Given the description of an element on the screen output the (x, y) to click on. 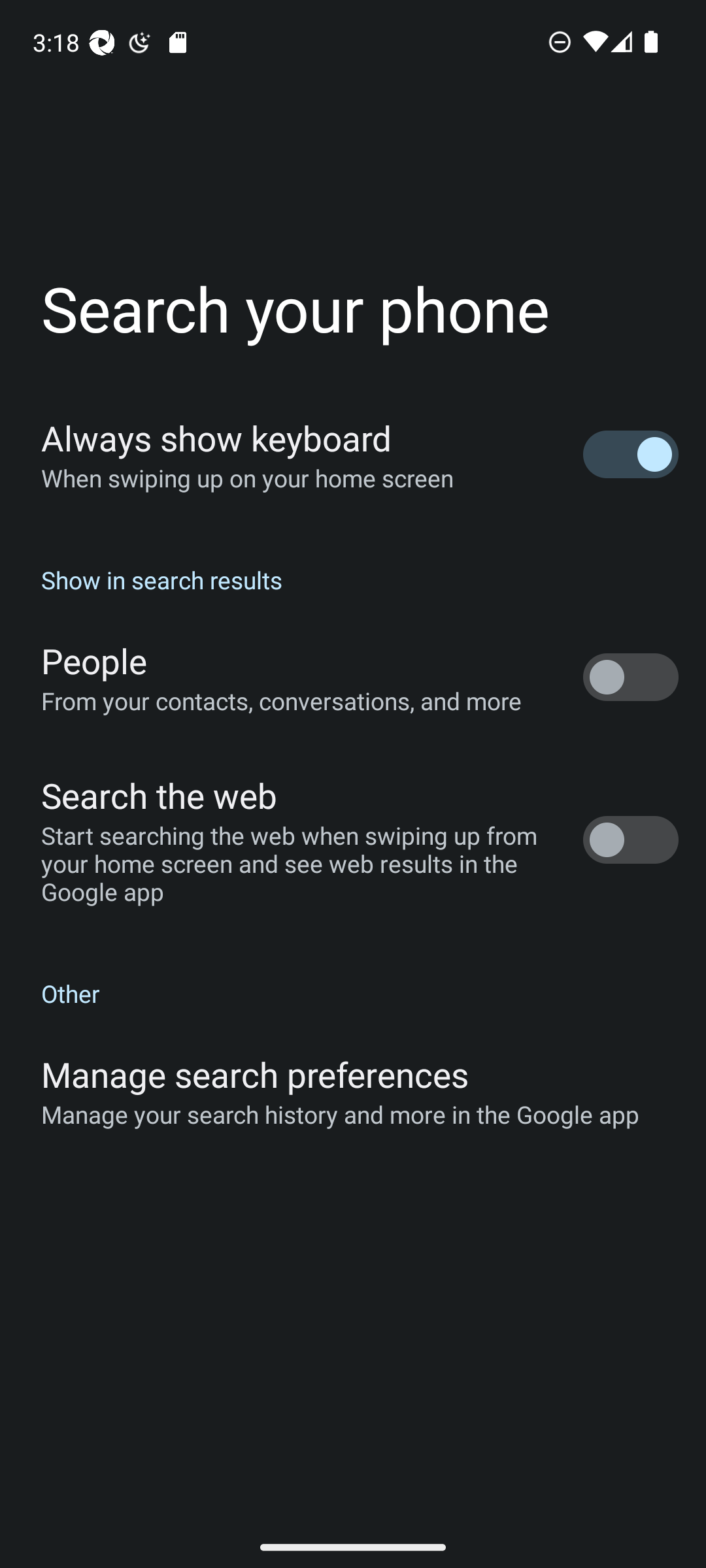
People From your contacts, conversations, and more (353, 676)
